Given the description of an element on the screen output the (x, y) to click on. 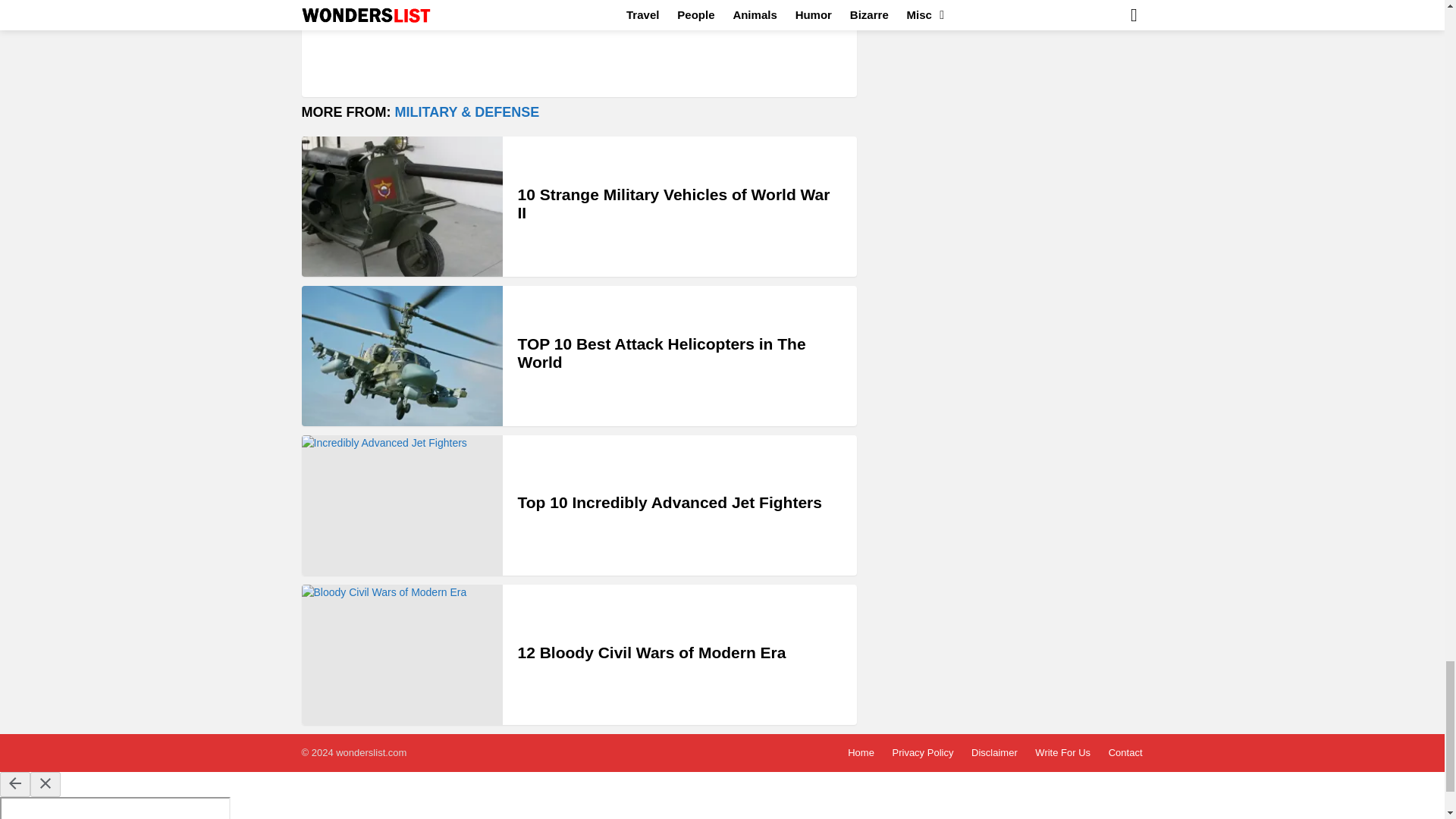
TOP 10 Best Attack Helicopters in The World (660, 352)
Top 10 Incredibly Advanced Jet Fighters (668, 502)
TOP 10 Best Attack Helicopters in The World (401, 355)
10 Strange Military Vehicles of World War II (672, 203)
12 Bloody Civil Wars of Modern Era (401, 654)
10 Strange Military Vehicles of World War II (401, 206)
Top 10 Incredibly Advanced Jet Fighters (401, 504)
